Given the description of an element on the screen output the (x, y) to click on. 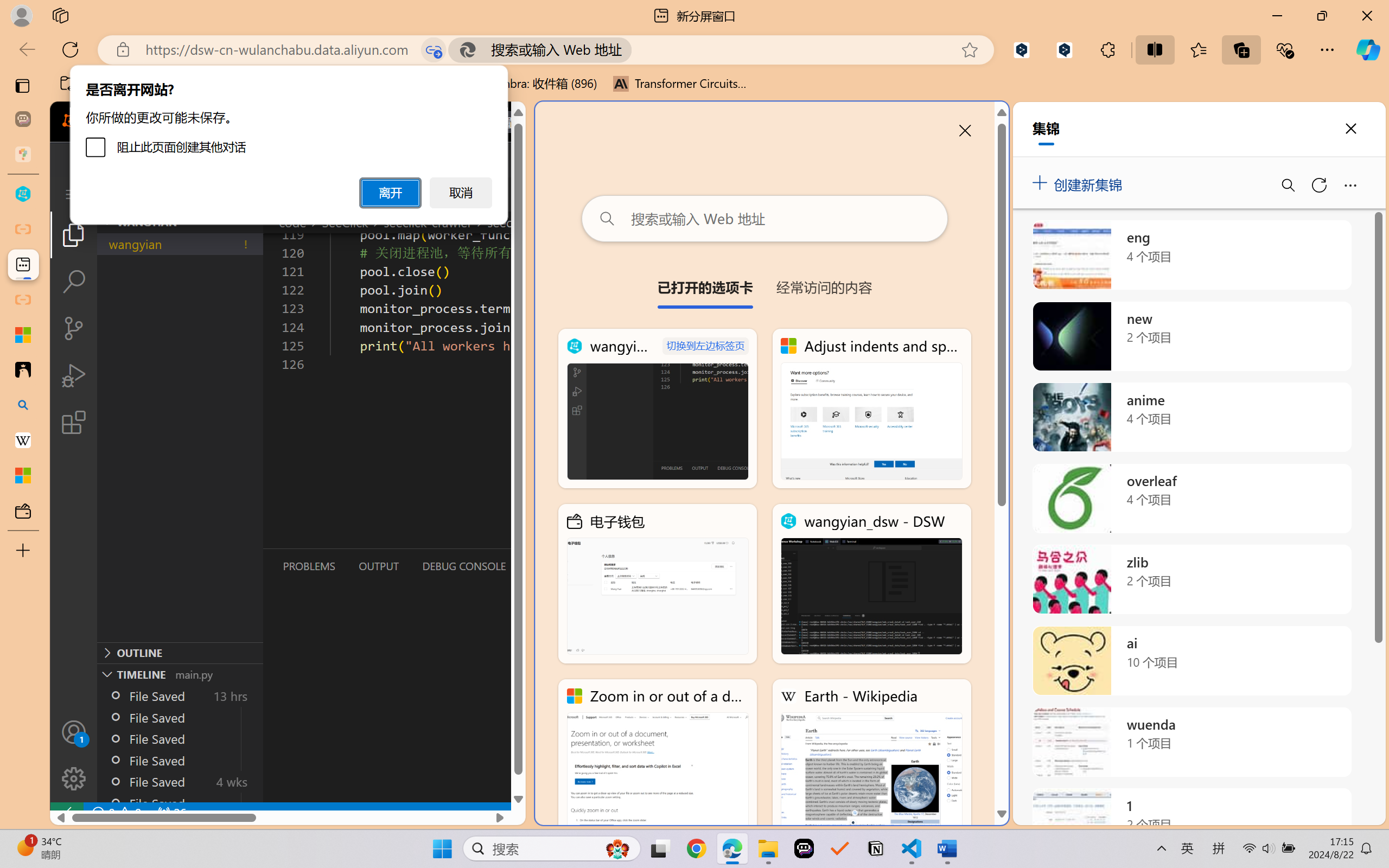
Insert (80, 29)
Curve (550, 72)
Line Spacing (413, 52)
Animations (210, 29)
Close pane (1354, 113)
Format Object... (699, 91)
Change Case (263, 71)
Format Painter (55, 77)
File Tab (14, 29)
Oval (572, 48)
Shape Effects (668, 74)
Text Direction (453, 47)
Office Clipboard... (84, 91)
Quick Styles (625, 62)
Accessibility Checker Accessibility: Investigate (214, 837)
